Given the description of an element on the screen output the (x, y) to click on. 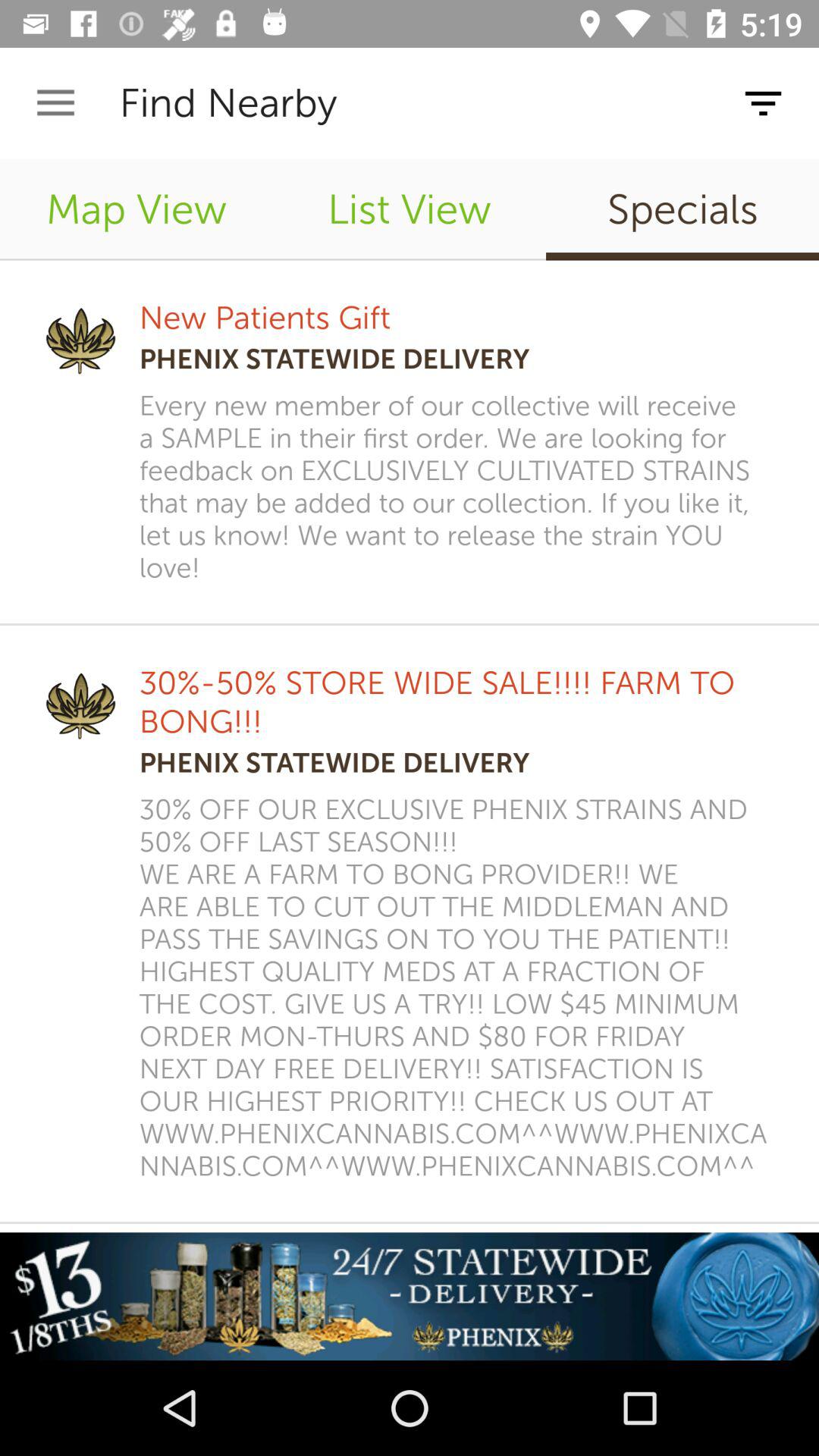
turn off 30 off our (459, 987)
